Given the description of an element on the screen output the (x, y) to click on. 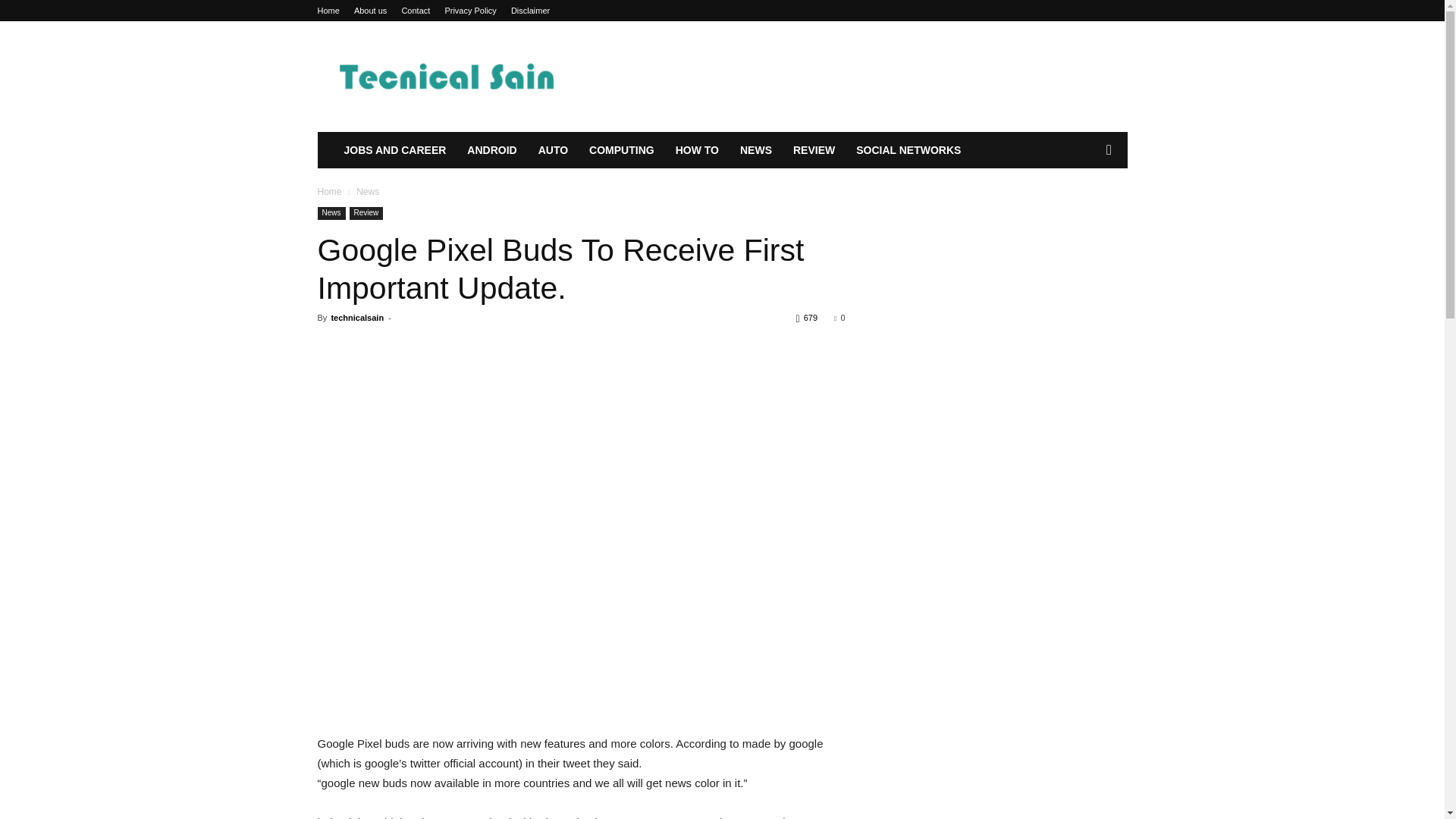
AUTO (552, 149)
REVIEW (814, 149)
JOBS AND CAREER (395, 149)
Disclaimer (530, 10)
Home (328, 10)
COMPUTING (621, 149)
Search (1085, 210)
NEWS (756, 149)
HOW TO (697, 149)
ANDROID (492, 149)
Contact (415, 10)
SOCIAL NETWORKS (908, 149)
